Given the description of an element on the screen output the (x, y) to click on. 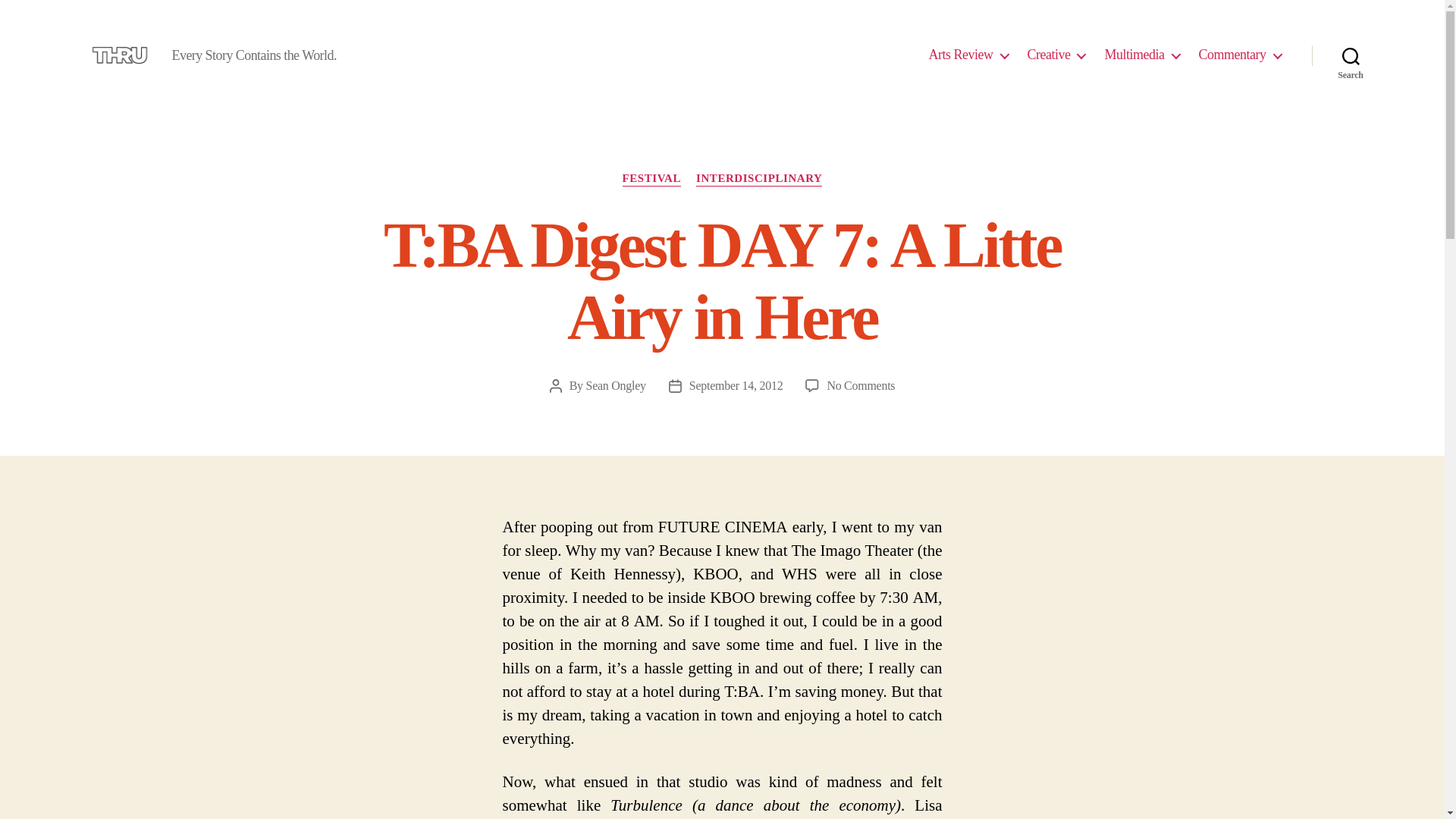
Arts Review (967, 54)
Commentary (1239, 54)
Multimedia (1141, 54)
Arts Review (967, 54)
Creative (1055, 54)
Creative (1055, 54)
Commentary (1239, 54)
